Given the description of an element on the screen output the (x, y) to click on. 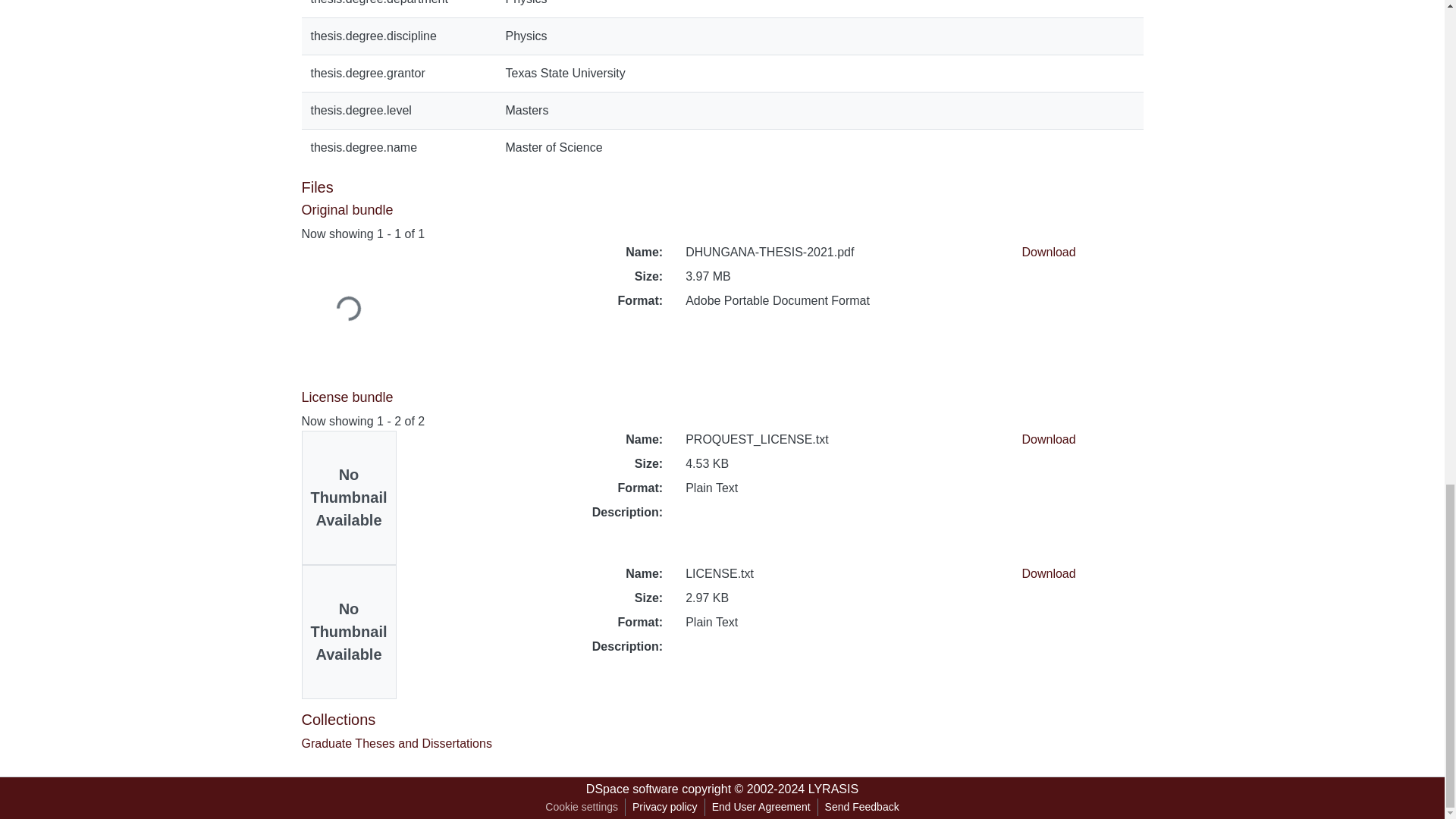
Download (1048, 251)
Cookie settings (581, 806)
Download (1048, 439)
Send Feedback (861, 806)
End User Agreement (760, 806)
Download (1048, 573)
Privacy policy (665, 806)
LYRASIS (833, 788)
Graduate Theses and Dissertations (396, 743)
DSpace software (632, 788)
